Given the description of an element on the screen output the (x, y) to click on. 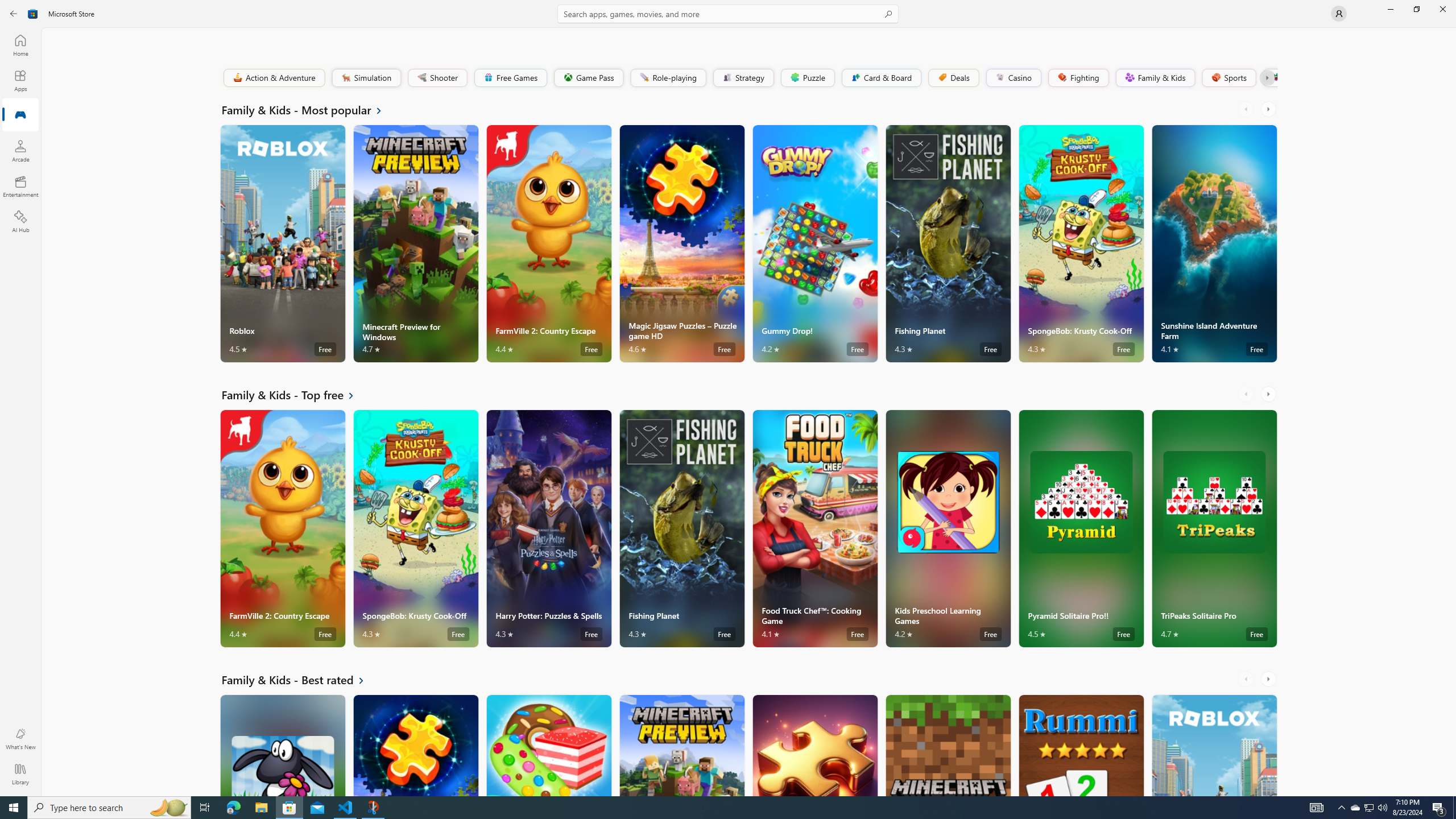
Simulation (365, 77)
Sports (1228, 77)
See all  Family & Kids - Most popular (308, 109)
Rummi. Average rating of 4.6 out of five stars. Free   (1080, 745)
